Given the description of an element on the screen output the (x, y) to click on. 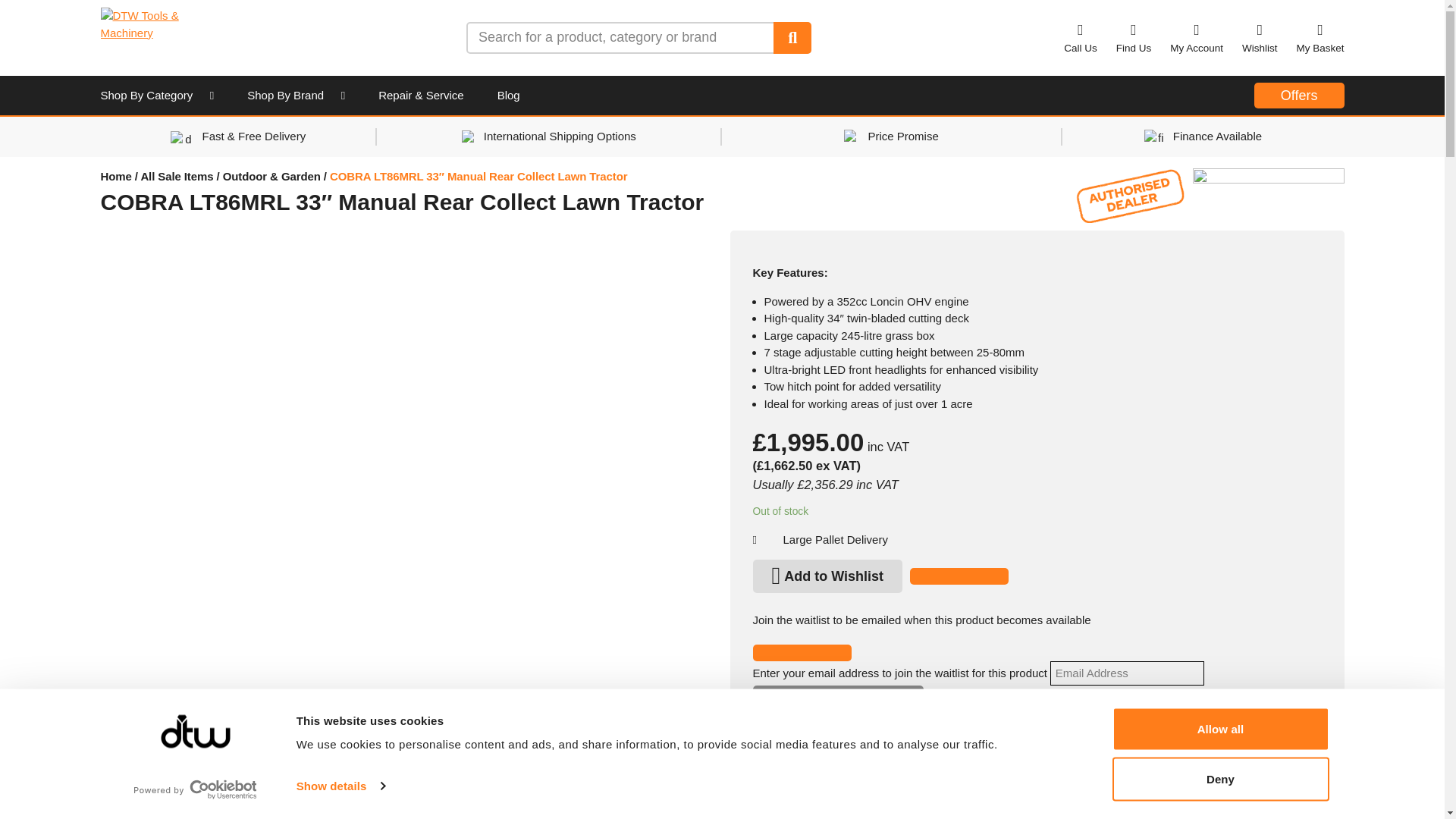
Search for: (620, 37)
Show details (340, 785)
